Given the description of an element on the screen output the (x, y) to click on. 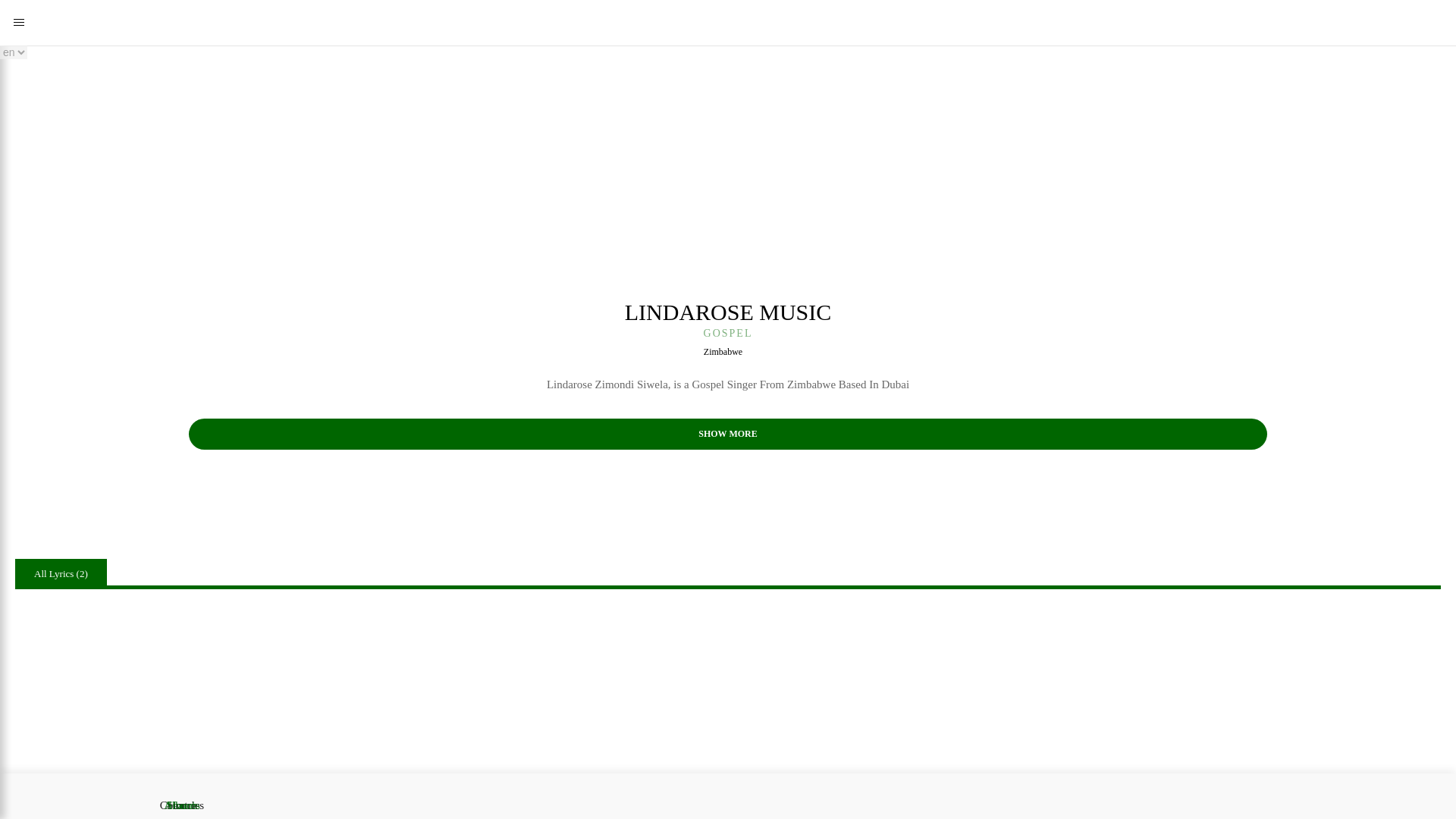
Muumbi Wehari (232, 715)
Ndaiva Newe (668, 715)
SHOW MORE (727, 433)
GOSPEL (727, 333)
